Given the description of an element on the screen output the (x, y) to click on. 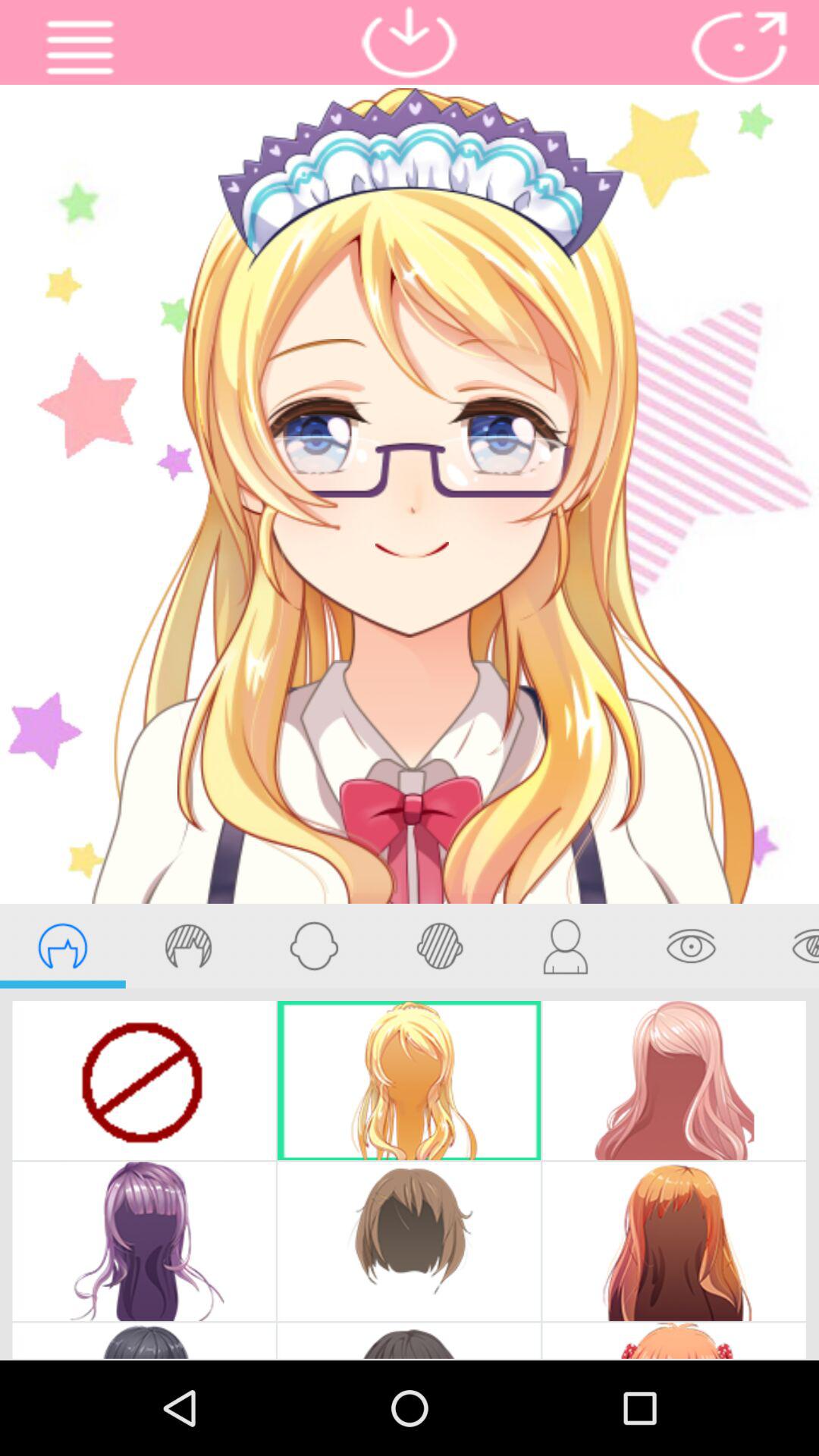
go to eye icon (691, 946)
click on the first image in first row (144, 1080)
select the image which has white hair (673, 1340)
select the third icon below first image (313, 946)
click on first row third image at bottom (673, 1080)
click on first hair image in the second row (144, 1240)
select the image which is in the second row third column (673, 1240)
